Given the description of an element on the screen output the (x, y) to click on. 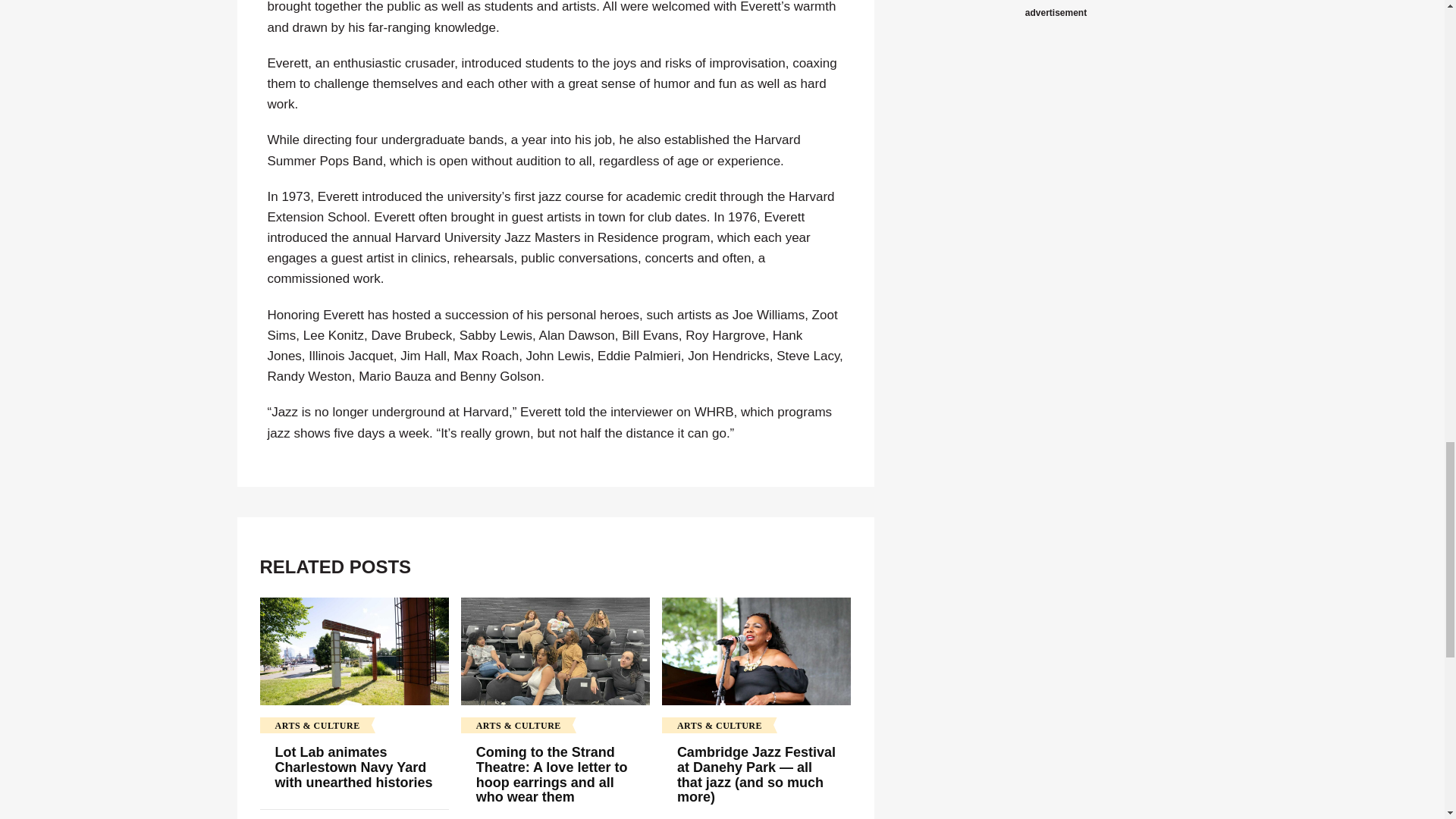
3rd party ad content (1056, 2)
